Given the description of an element on the screen output the (x, y) to click on. 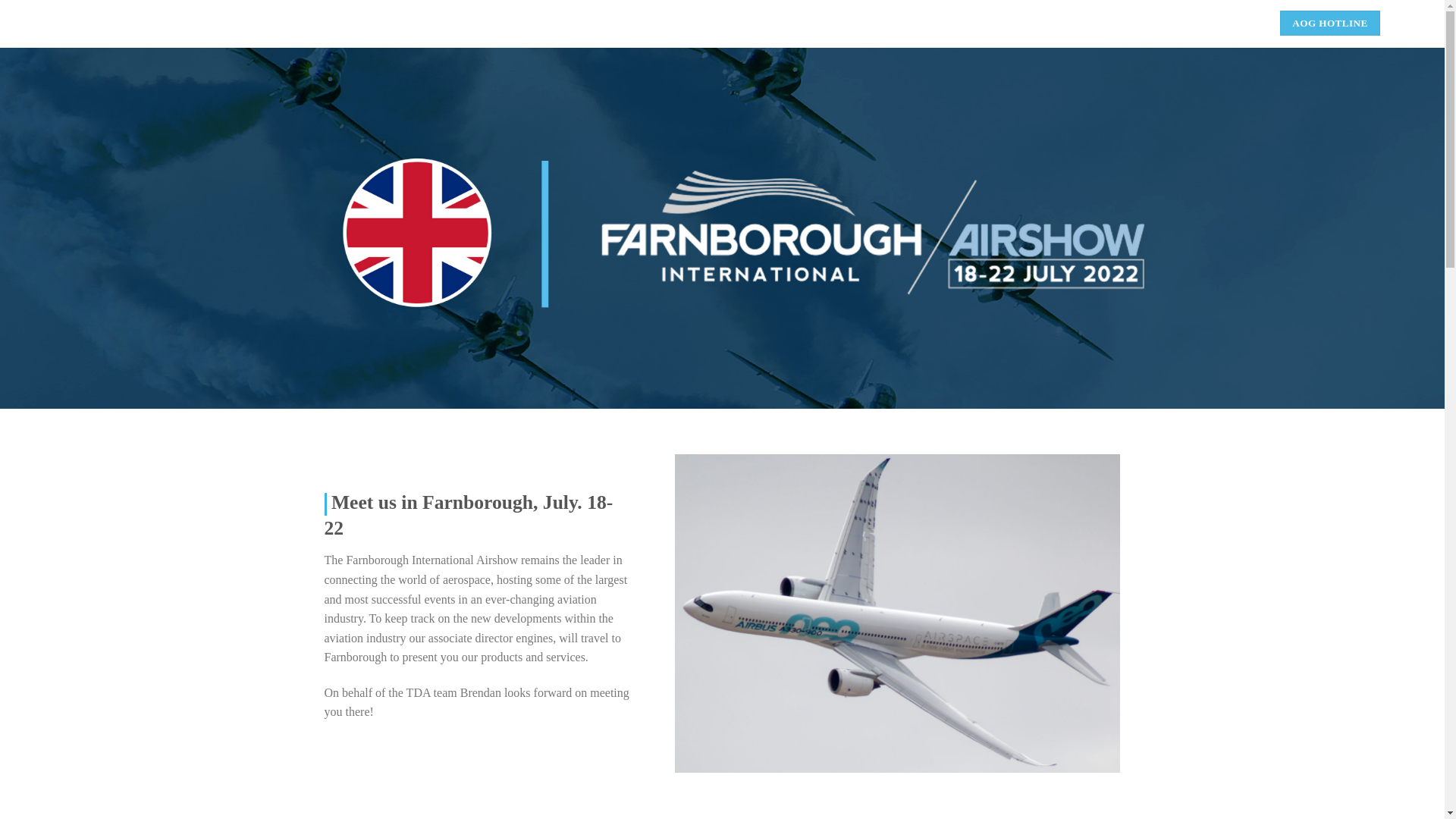
About us (1163, 22)
Lessors Support (1078, 22)
Contact (1227, 22)
AOG HOTLINE (1329, 23)
TDA - Aircraft Parts Specialists (47, 23)
